Given the description of an element on the screen output the (x, y) to click on. 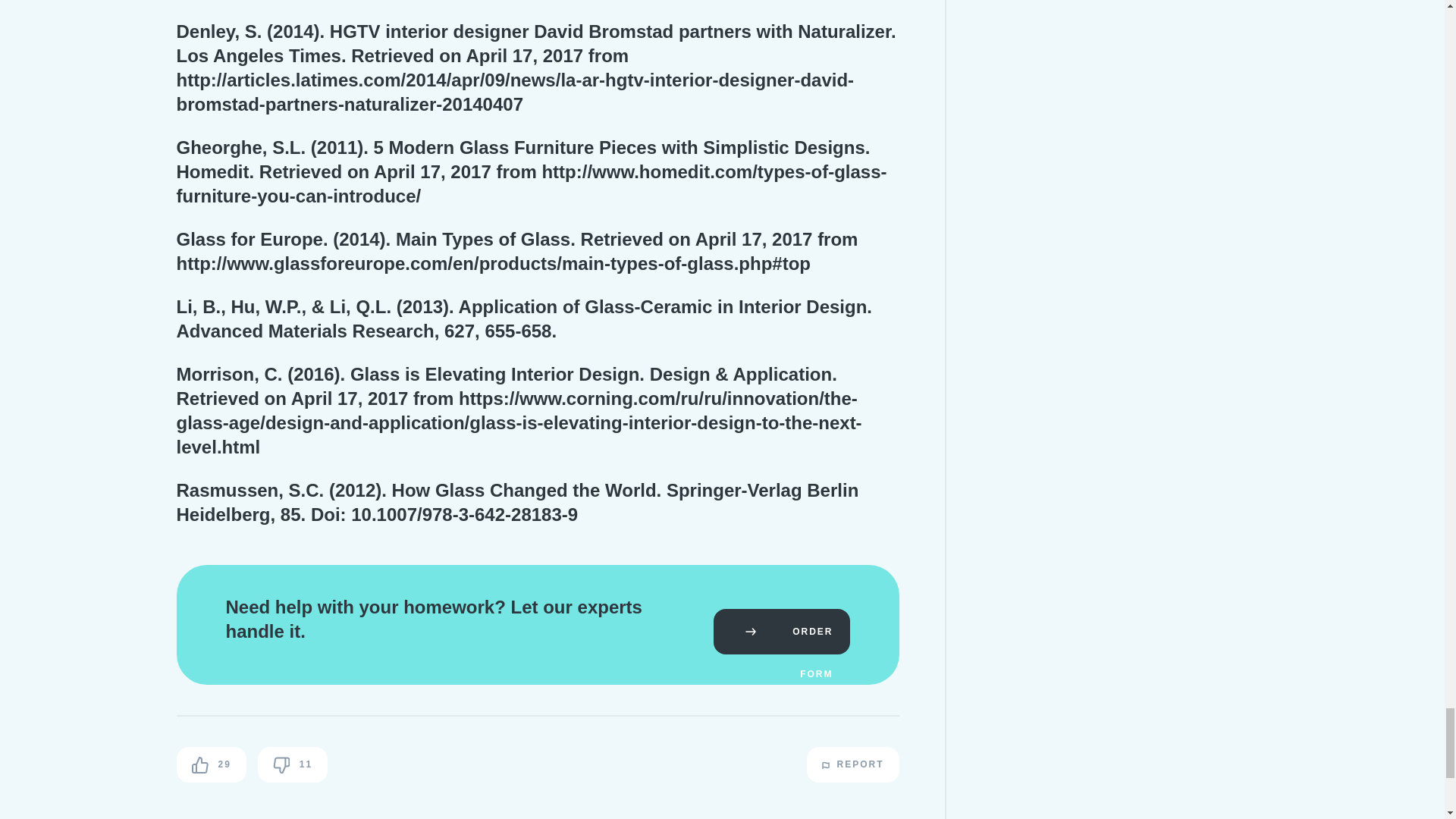
REPORT (852, 764)
11 (292, 764)
ORDER FORM (780, 631)
29 (211, 764)
